Given the description of an element on the screen output the (x, y) to click on. 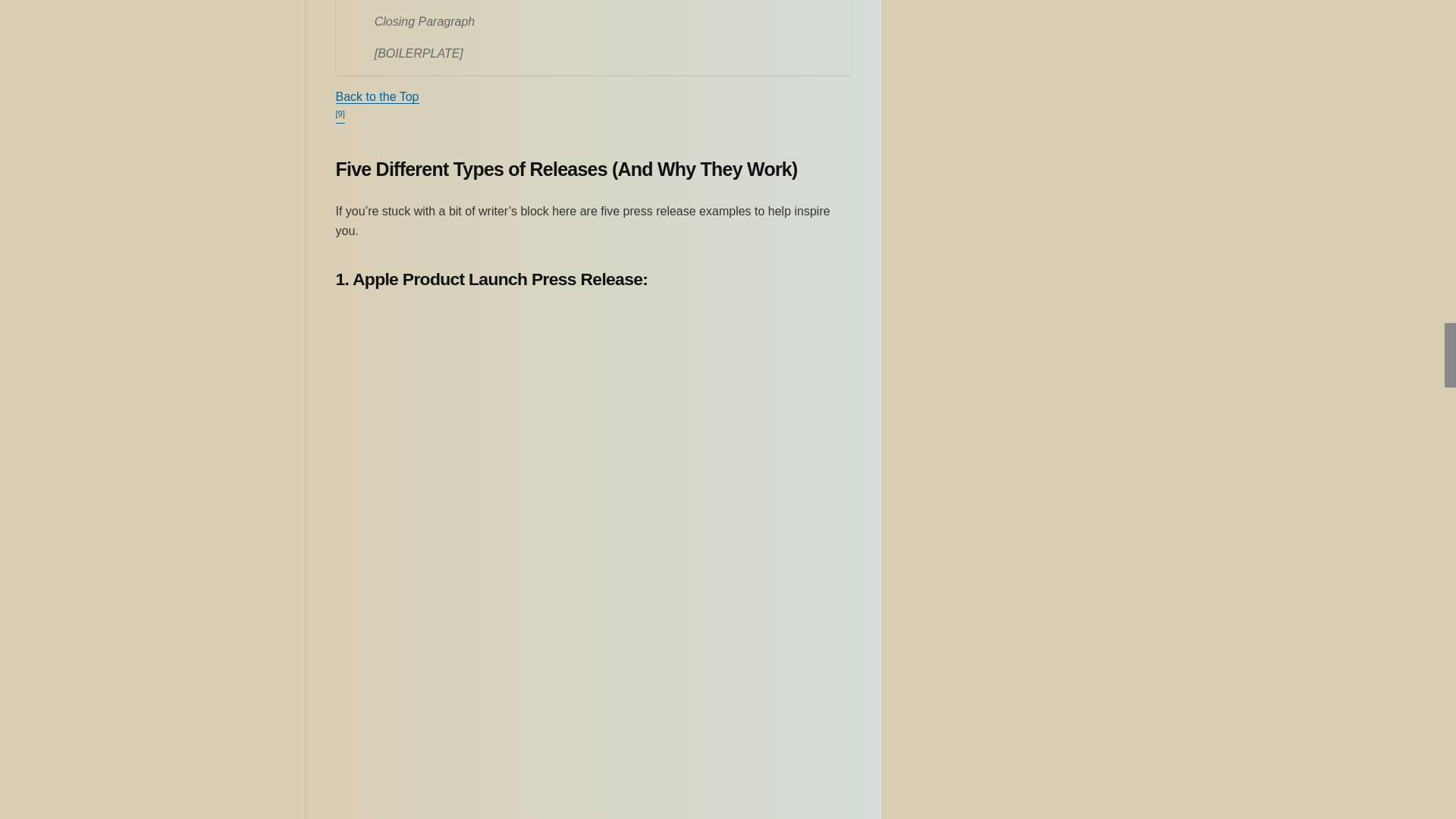
Back to the Top (376, 96)
